Given the description of an element on the screen output the (x, y) to click on. 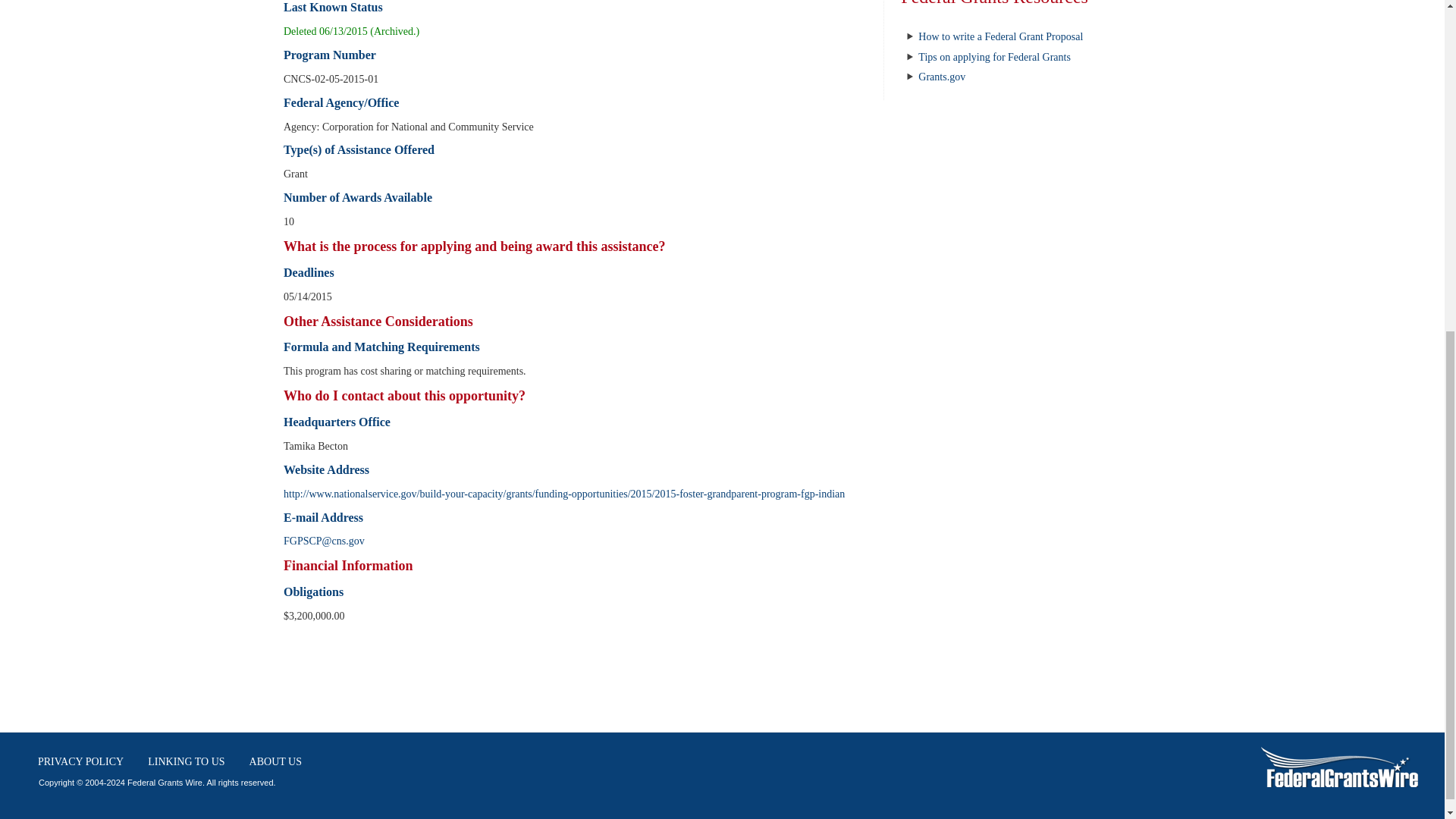
How to write a Federal Grant Proposal (1000, 36)
LINKING TO US (185, 761)
PRIVACY POLICY (80, 761)
Tips on applying for Federal Grants (994, 57)
Grants.gov (941, 76)
ABOUT US (275, 761)
